Given the description of an element on the screen output the (x, y) to click on. 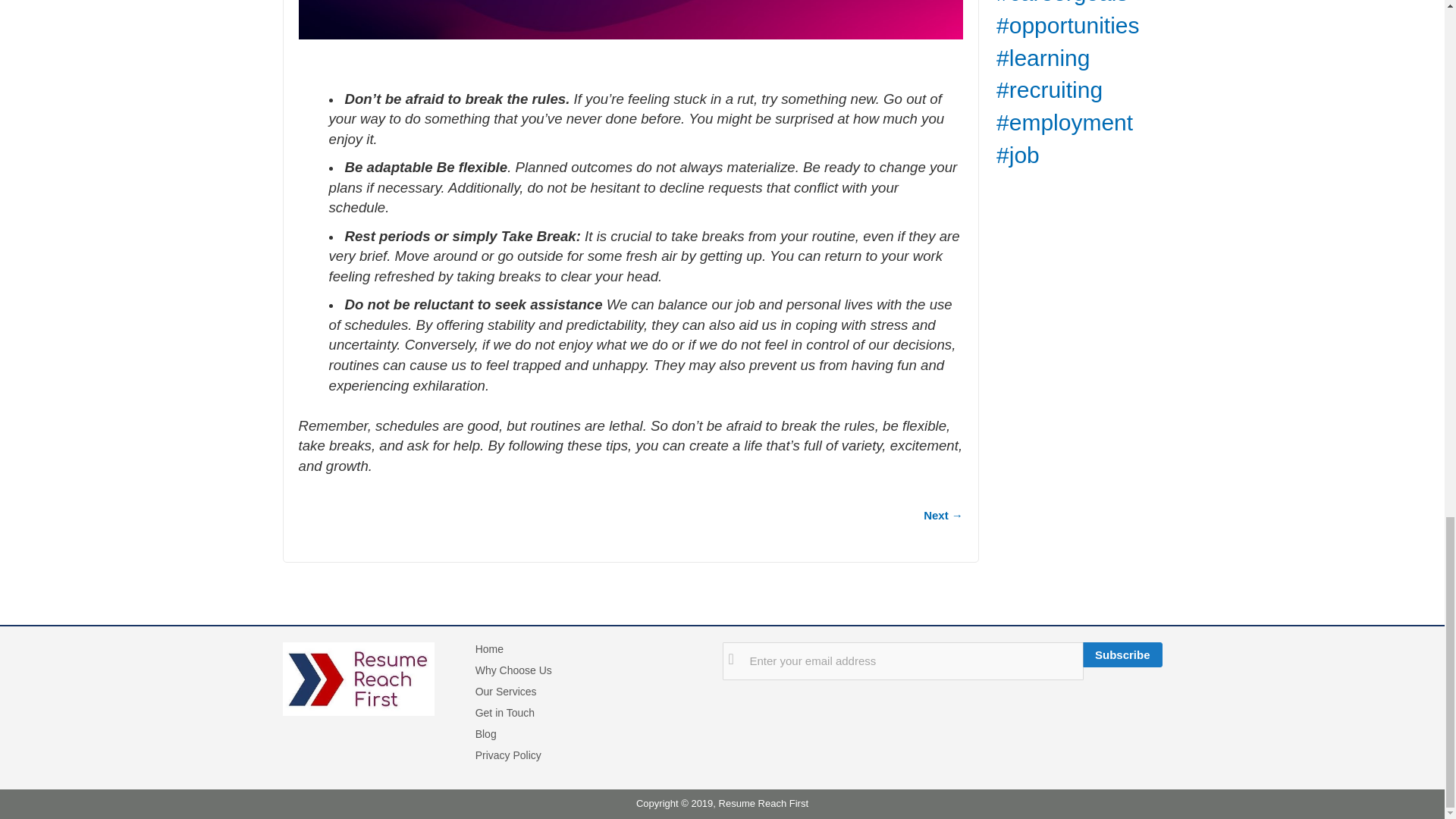
Read Learn The Art of Saying NO  (942, 514)
